Given the description of an element on the screen output the (x, y) to click on. 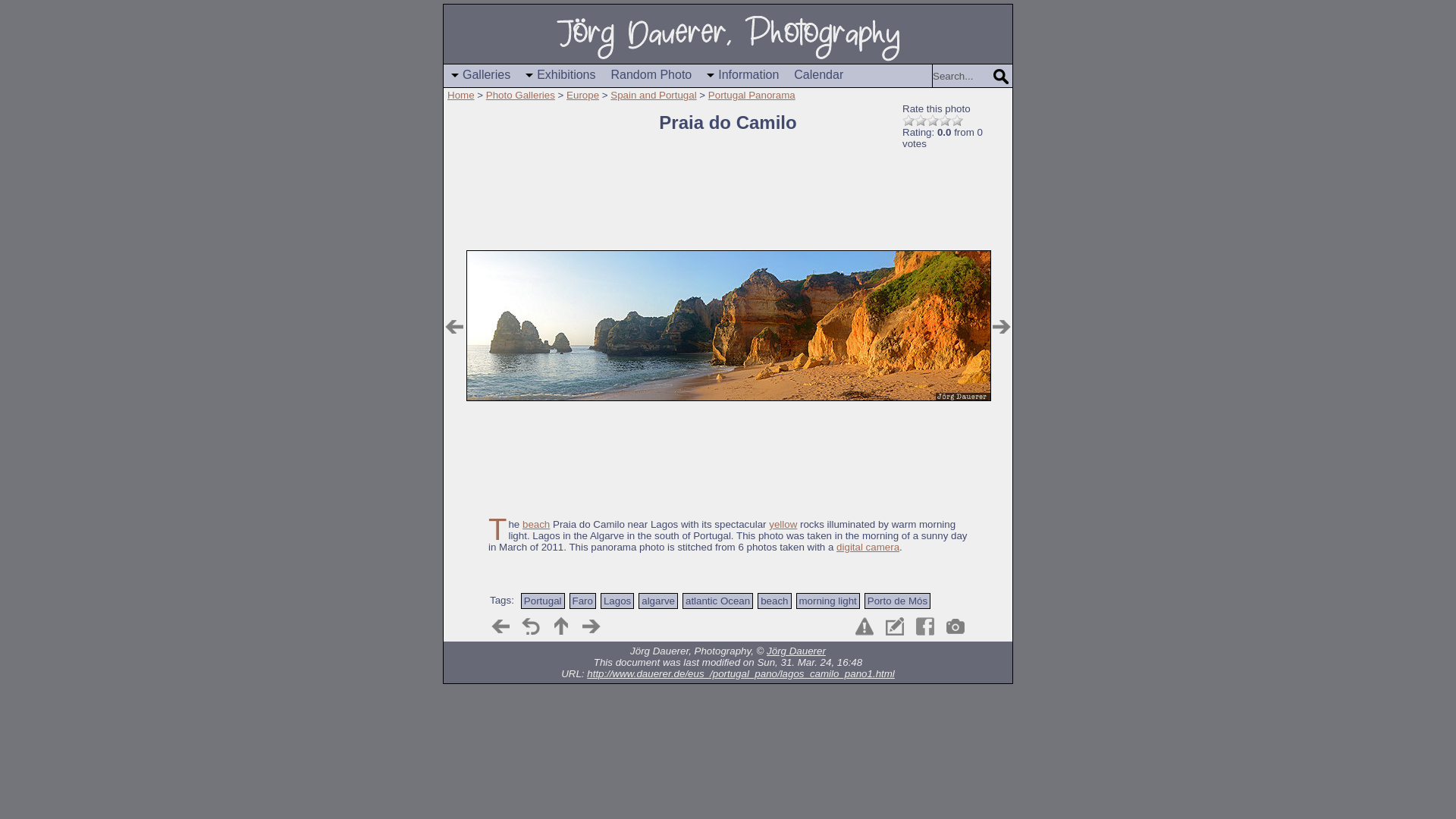
Portugal Panorama (750, 94)
1 (908, 120)
yellow (782, 523)
Search (1001, 76)
Photo Galleries (520, 94)
Search... (961, 75)
Home (460, 94)
beach (536, 523)
Search (961, 75)
5 (956, 120)
Calendar (818, 75)
Jump to a random photo (652, 75)
3 (932, 120)
Random Photo (652, 75)
